Given the description of an element on the screen output the (x, y) to click on. 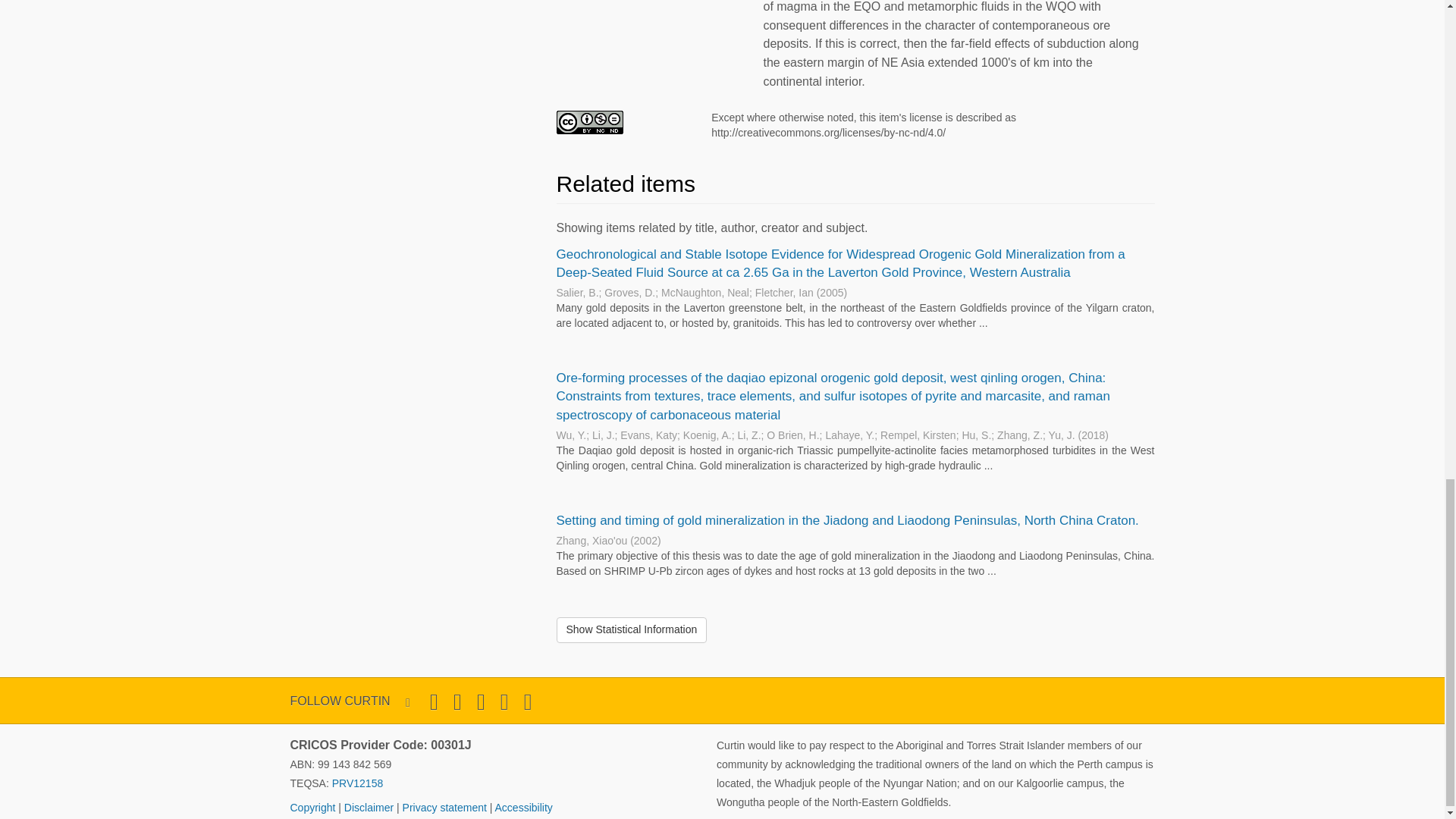
Show Statistical Information (631, 629)
